Given the description of an element on the screen output the (x, y) to click on. 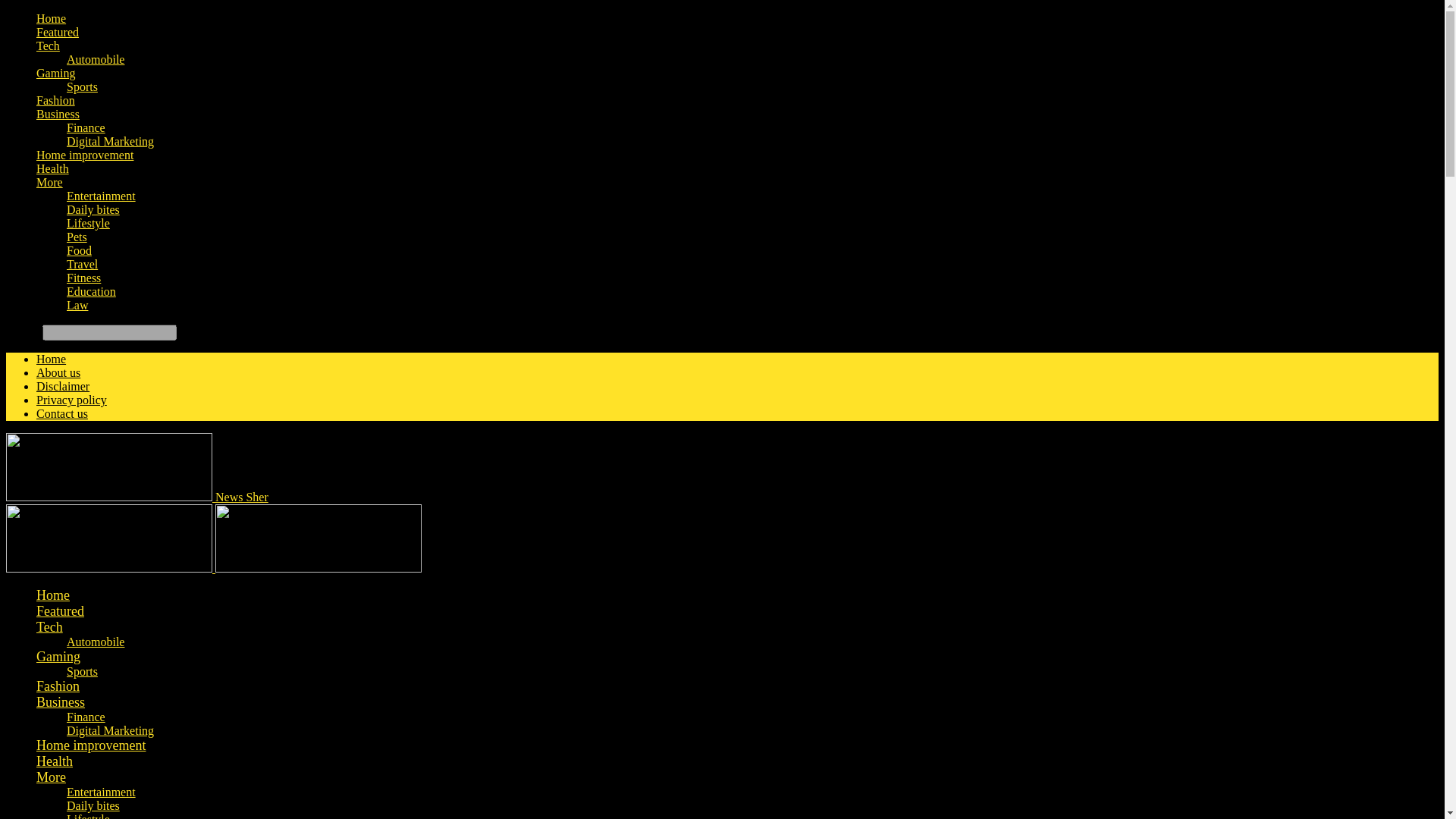
Digital Marketing (110, 141)
Contact us (61, 413)
Lifestyle (88, 223)
Business (58, 113)
Privacy policy (71, 399)
Finance (85, 127)
Gaming (55, 72)
Daily bites (92, 209)
Home (50, 358)
Home (52, 595)
Sports (81, 86)
More (49, 182)
Automobile (94, 59)
Home (50, 18)
Health (52, 168)
